Given the description of an element on the screen output the (x, y) to click on. 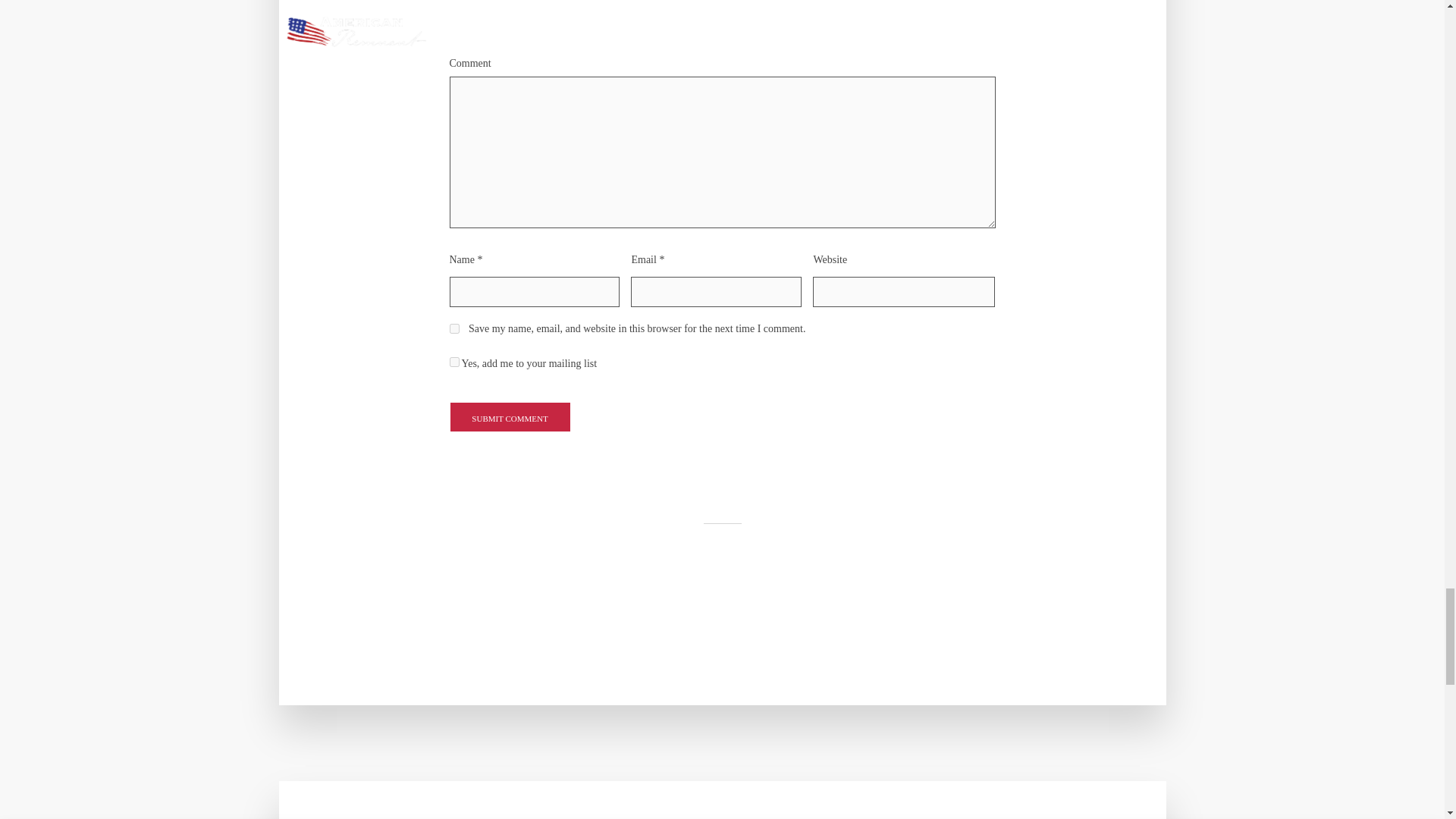
Submit Comment (509, 417)
1 (453, 361)
yes (453, 328)
Submit Comment (509, 417)
